Given the description of an element on the screen output the (x, y) to click on. 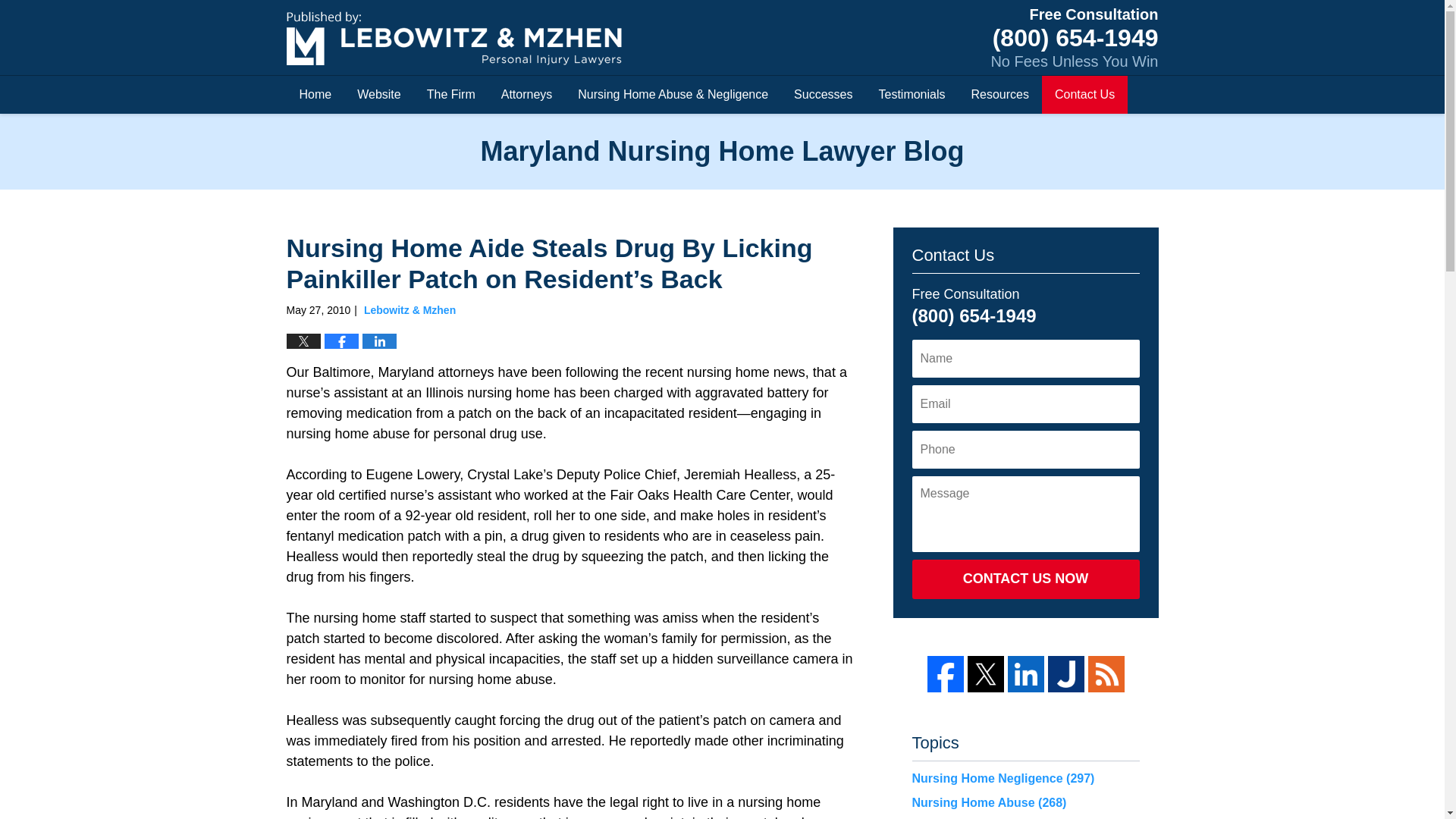
Feed (1105, 674)
Please enter a valid phone number. (1024, 449)
Attorneys (526, 94)
Justia (1066, 674)
Website (378, 94)
Home (315, 94)
Facebook (944, 674)
Testimonials (911, 94)
CONTACT US NOW (1024, 578)
LinkedIn (1025, 674)
Twitter (986, 674)
Successes (822, 94)
Resources (1000, 94)
Maryland Nursing Home Lawyer Blog (453, 37)
Contact Us (1084, 94)
